Given the description of an element on the screen output the (x, y) to click on. 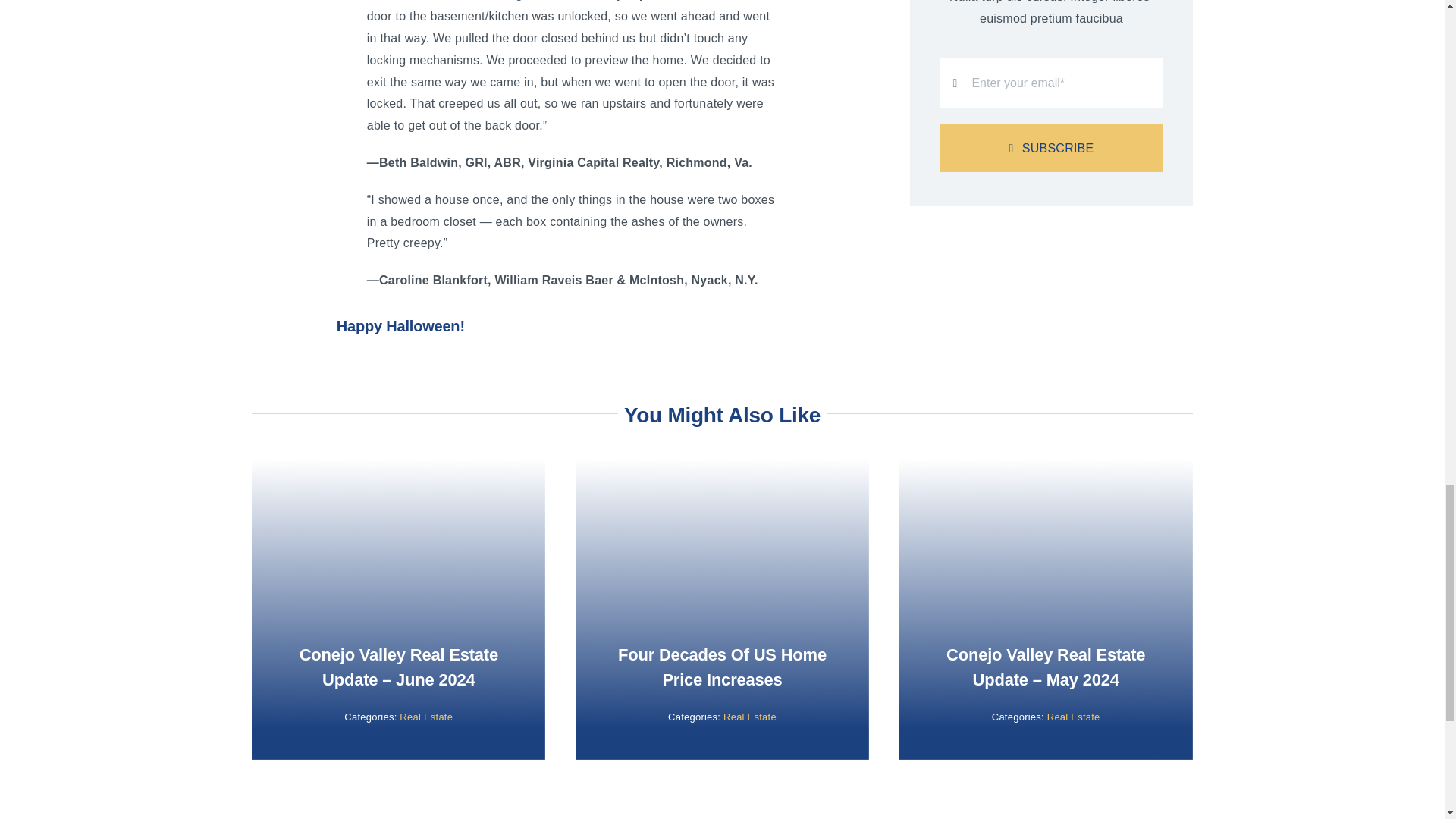
Four Decades Of US Home Price Increases (722, 667)
SUBSCRIBE (1050, 147)
Real Estate (749, 716)
Real Estate (1073, 716)
SUBSCRIBE (1050, 110)
Real Estate (425, 716)
